Given the description of an element on the screen output the (x, y) to click on. 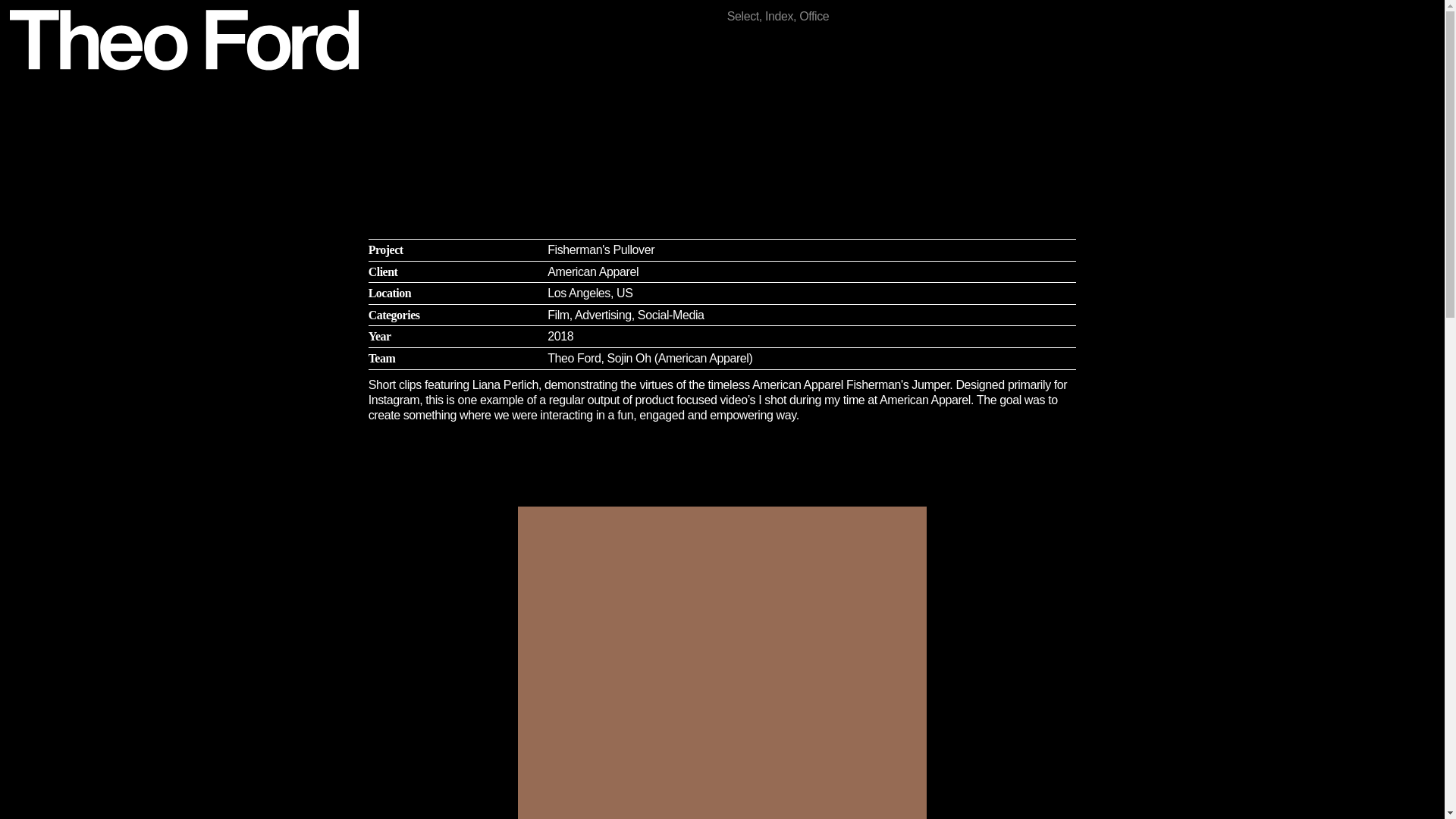
Select, (745, 15)
Index, (782, 15)
Office (813, 15)
